Given the description of an element on the screen output the (x, y) to click on. 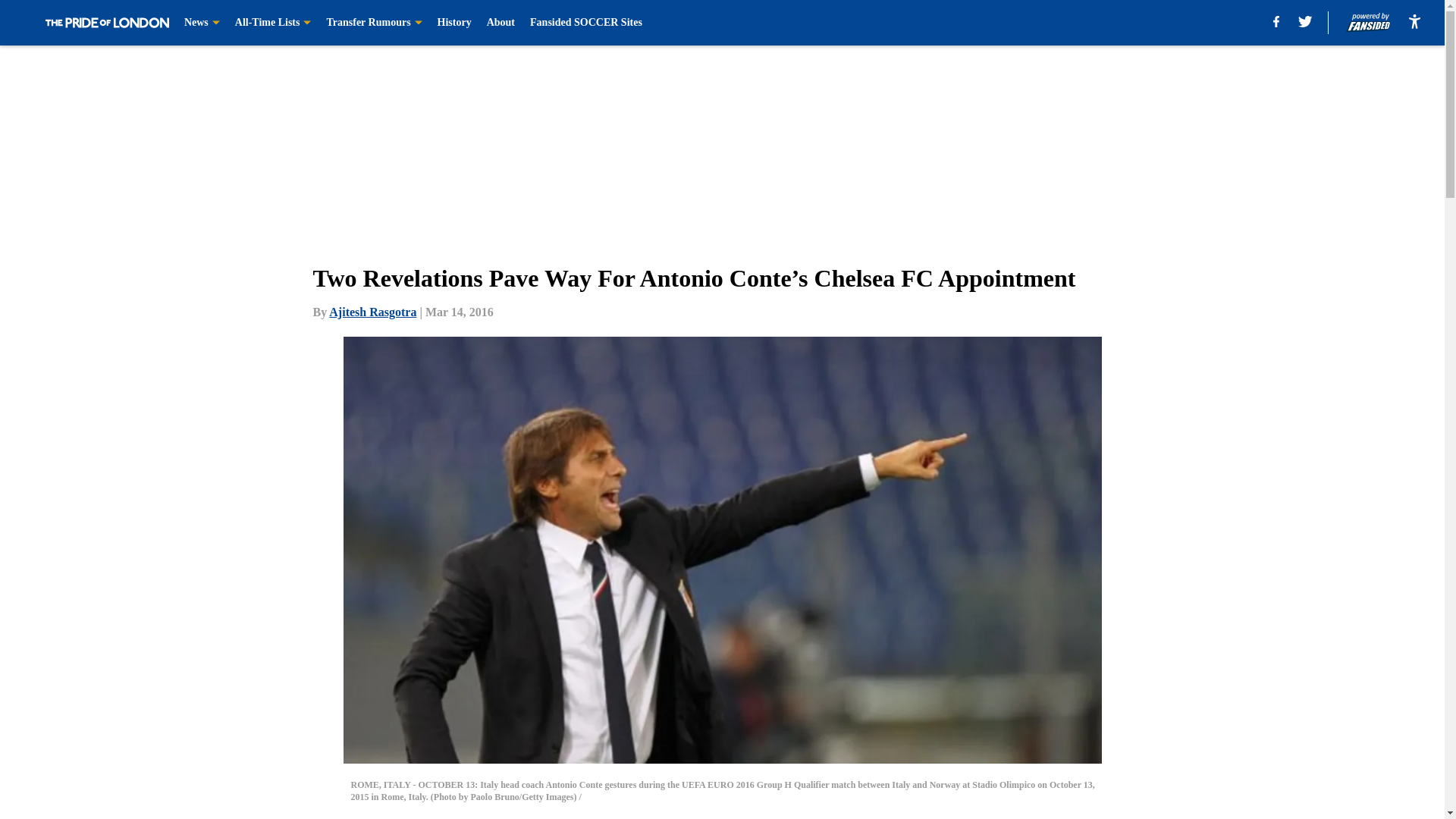
Ajitesh Rasgotra (372, 311)
History (454, 22)
About (500, 22)
Fansided SOCCER Sites (585, 22)
